Given the description of an element on the screen output the (x, y) to click on. 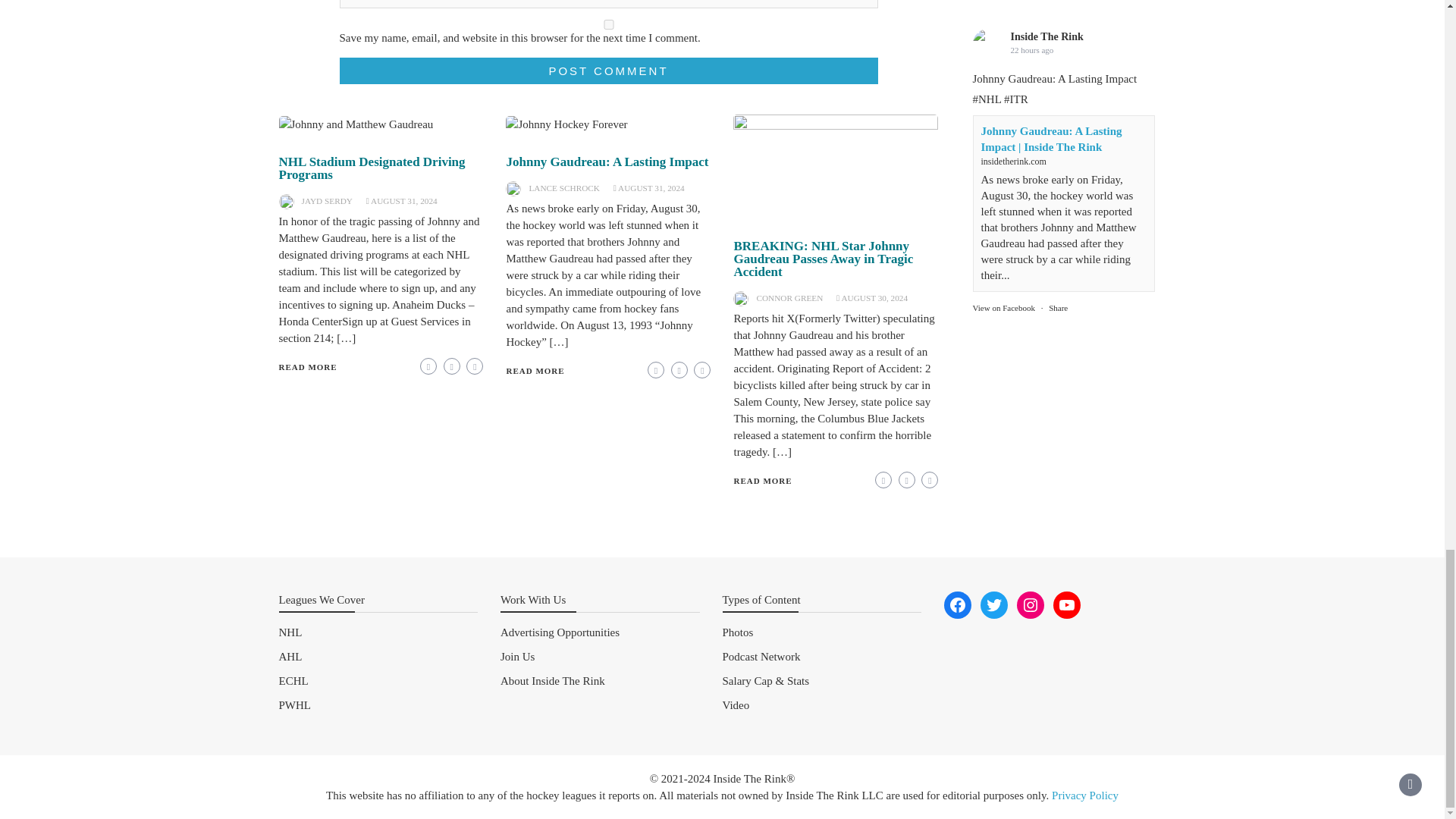
Post Comment (608, 70)
yes (608, 24)
Likebox Iframe (1063, 45)
